Given the description of an element on the screen output the (x, y) to click on. 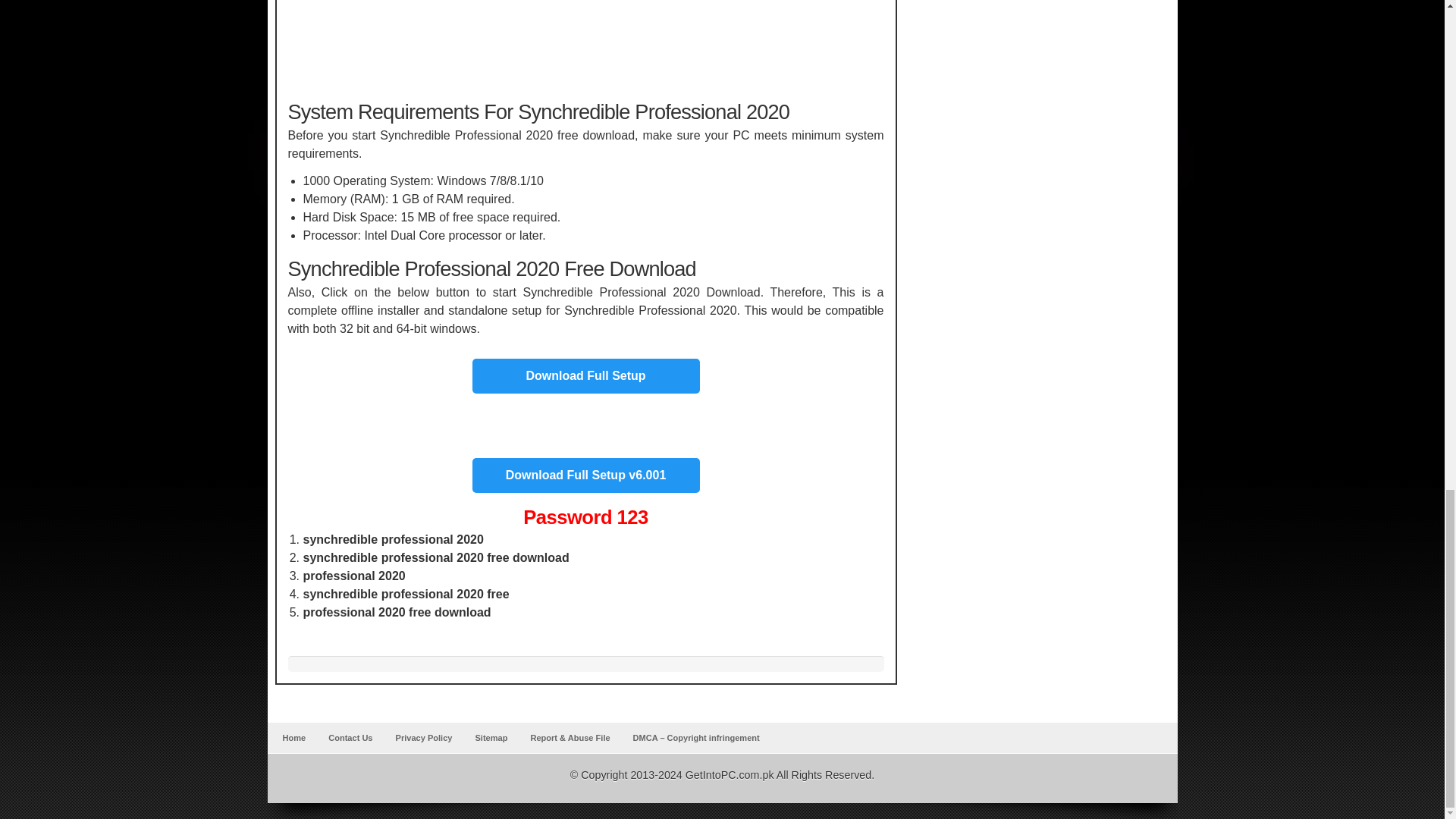
Download Full Setup (584, 375)
Download Full Setup (585, 370)
Privacy Policy (424, 737)
Download Full Setup v6.001 (584, 475)
Complete Setup (584, 375)
Sitemap (491, 737)
Home (294, 737)
Size: 14 MB (584, 475)
Contact Us (350, 737)
